Given the description of an element on the screen output the (x, y) to click on. 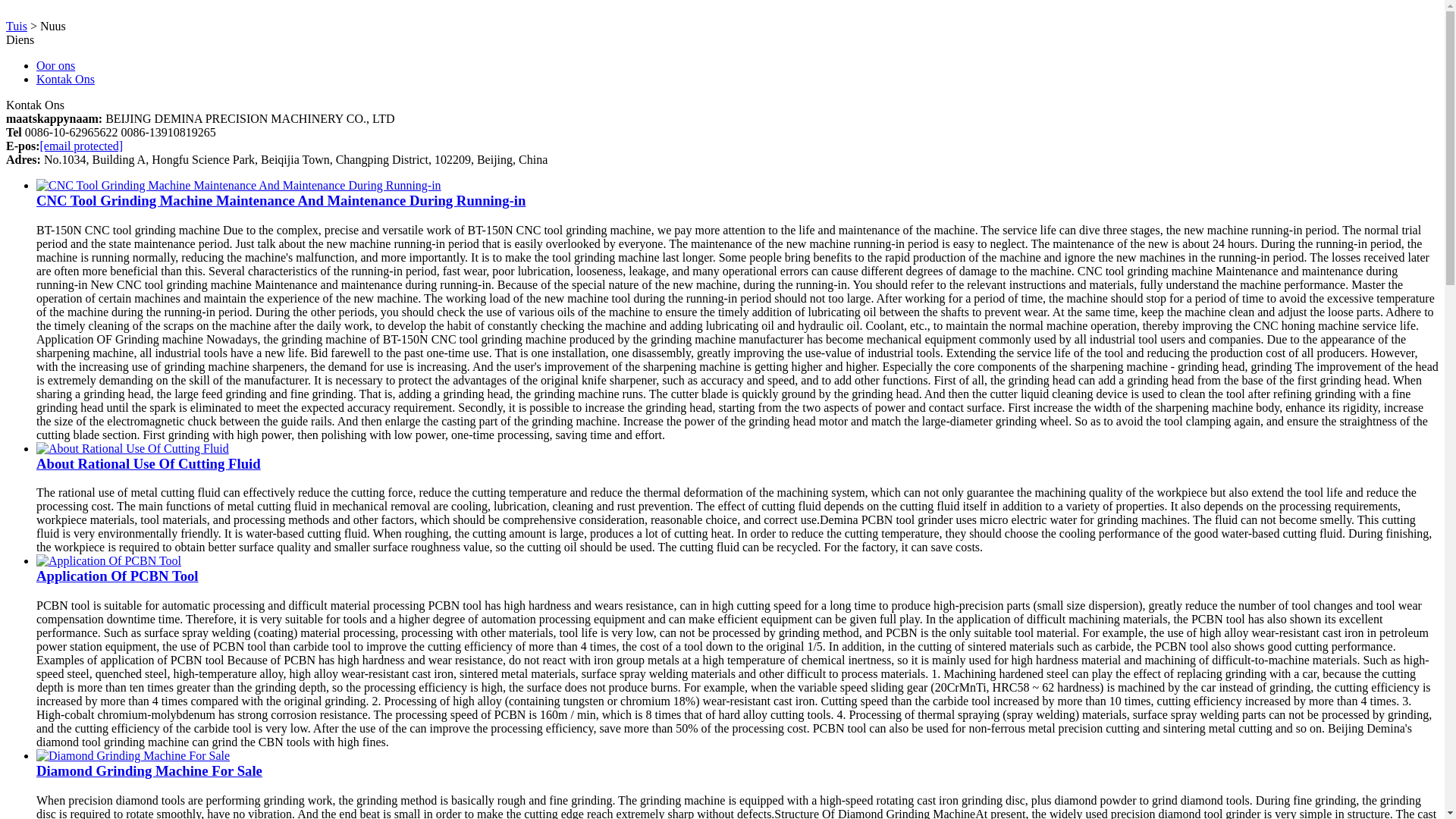
Kontak Ons (65, 78)
Application Of PCBN Tool (108, 561)
Diamond Grinding Machine For Sale (149, 770)
About Rational Use Of Cutting Fluid (148, 463)
Oor ons (55, 65)
Diamond Grinding Machine For Sale (149, 770)
Tuis (16, 25)
About Rational Use Of Cutting Fluid (148, 463)
Application Of PCBN Tool (117, 575)
Application Of PCBN Tool (117, 575)
About Rational Use Of Cutting Fluid (132, 448)
Diamond Grinding Machine For Sale (133, 755)
